Given the description of an element on the screen output the (x, y) to click on. 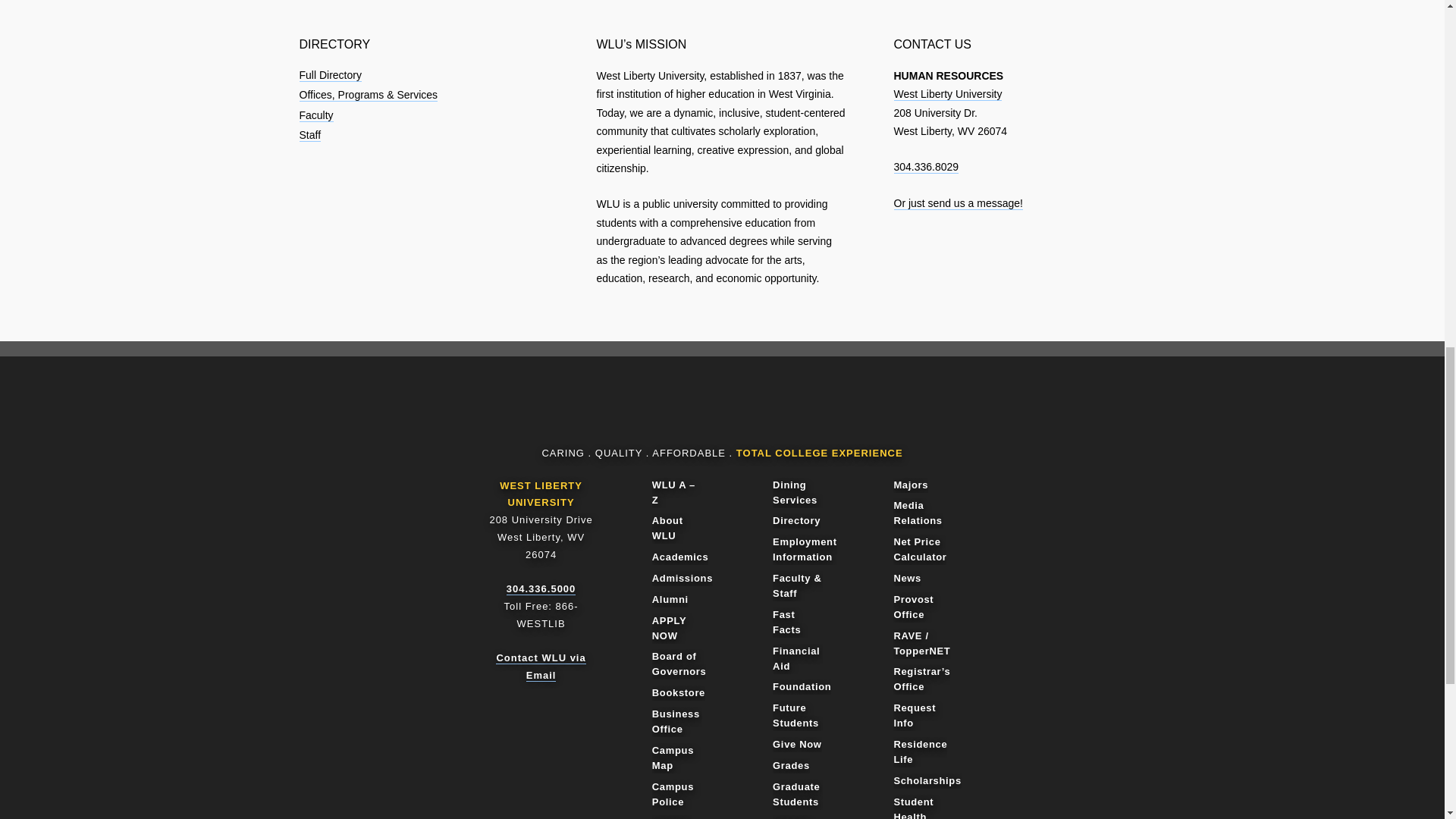
WLU (716, 412)
Full Directory (329, 74)
Academics (680, 557)
West Liberty University (947, 93)
Faculty (315, 115)
Admissions (682, 578)
WEST LIBERTY UNIVERSITY (540, 493)
Or just send us a message! (957, 203)
Contact WLU via Email (540, 666)
About WLU (676, 528)
Staff (309, 134)
Alumni (670, 599)
304.336.8029 (925, 166)
304.336.5000 (541, 589)
